Given the description of an element on the screen output the (x, y) to click on. 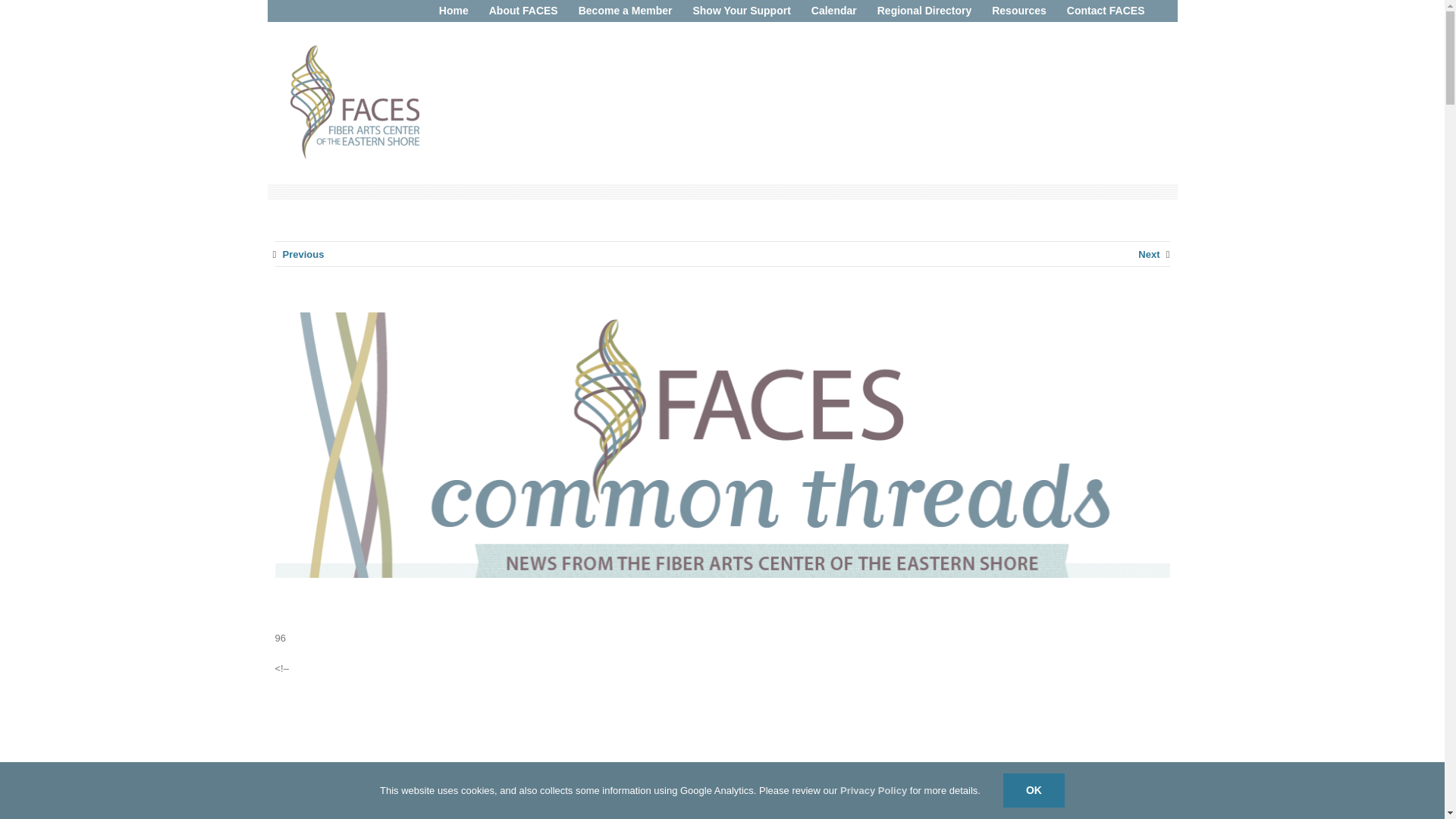
Resources (1019, 10)
Show Your Support (740, 10)
About FACES (523, 10)
Contact FACES (1105, 10)
Become a Member (625, 10)
Home (454, 10)
Calendar (834, 10)
Previous (302, 254)
Regional Directory (924, 10)
View this email in your browser (863, 774)
